Given the description of an element on the screen output the (x, y) to click on. 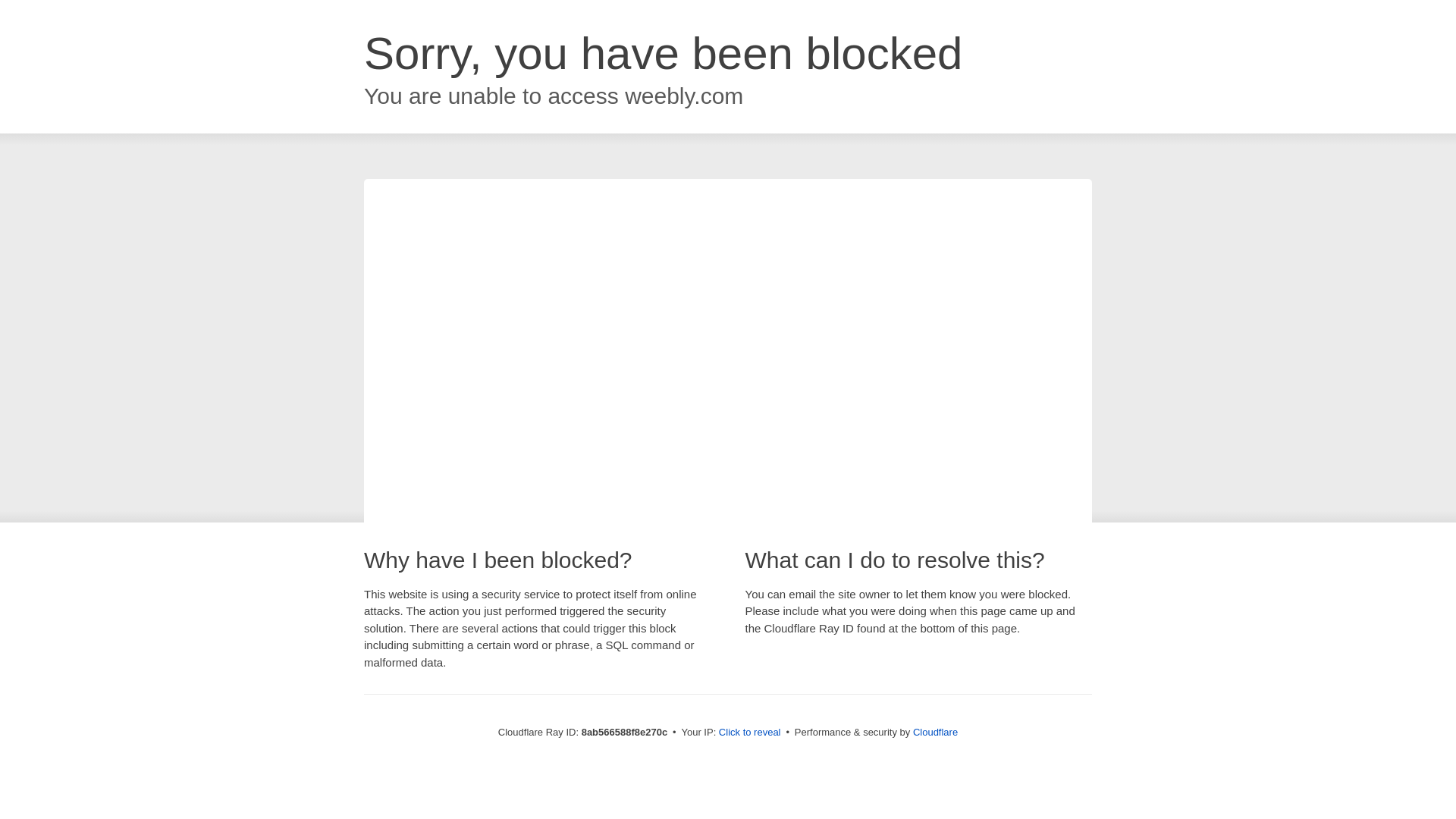
Click to reveal (749, 732)
Cloudflare (935, 731)
